Given the description of an element on the screen output the (x, y) to click on. 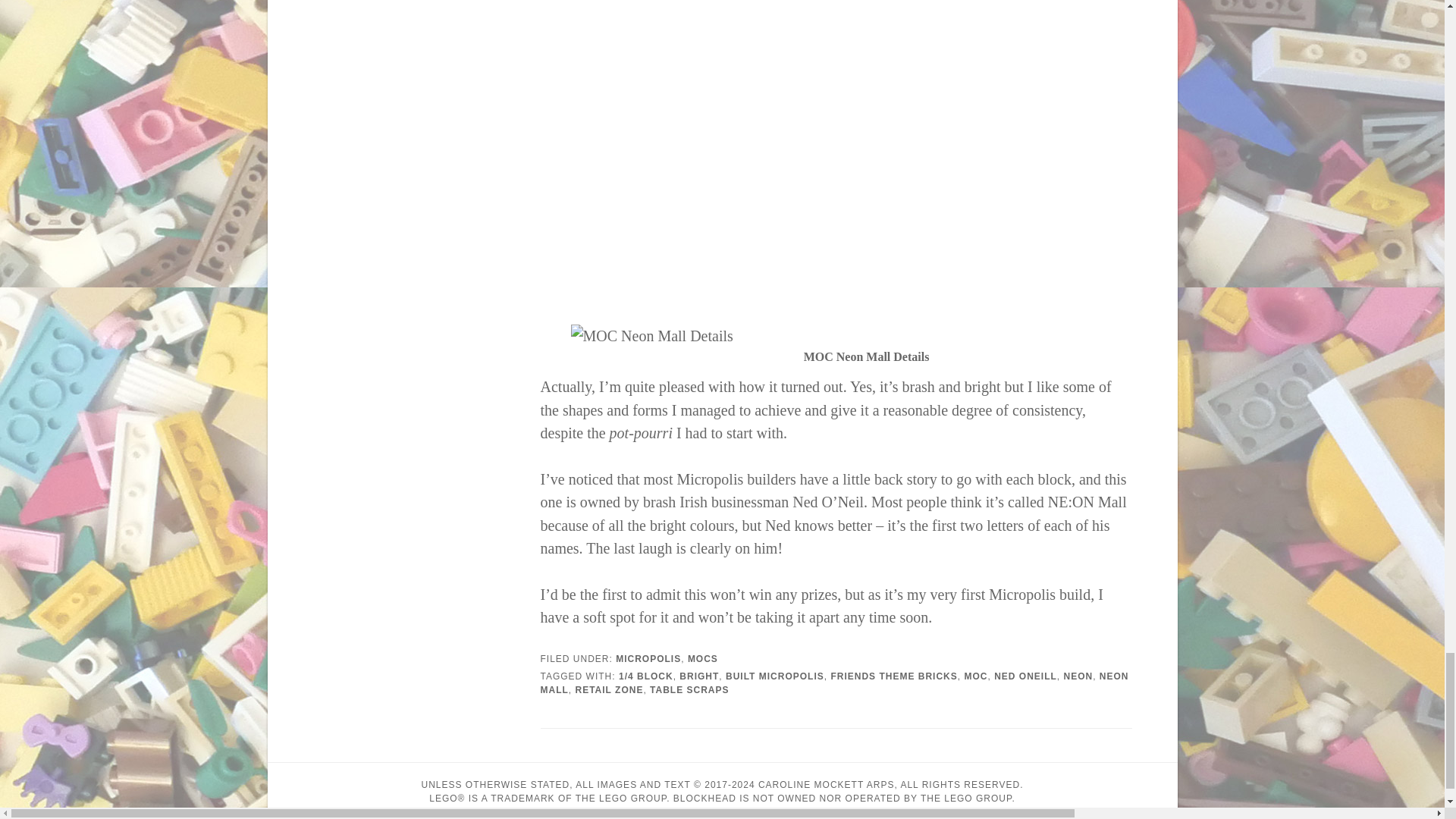
MOCS (702, 658)
MOC (975, 675)
BUILT MICROPOLIS (774, 675)
RETAIL ZONE (609, 689)
NEON MALL (834, 682)
MICROPOLIS (648, 658)
FRIENDS THEME BRICKS (892, 675)
NED ONEILL (1025, 675)
BRIGHT (699, 675)
NEON (1077, 675)
